Given the description of an element on the screen output the (x, y) to click on. 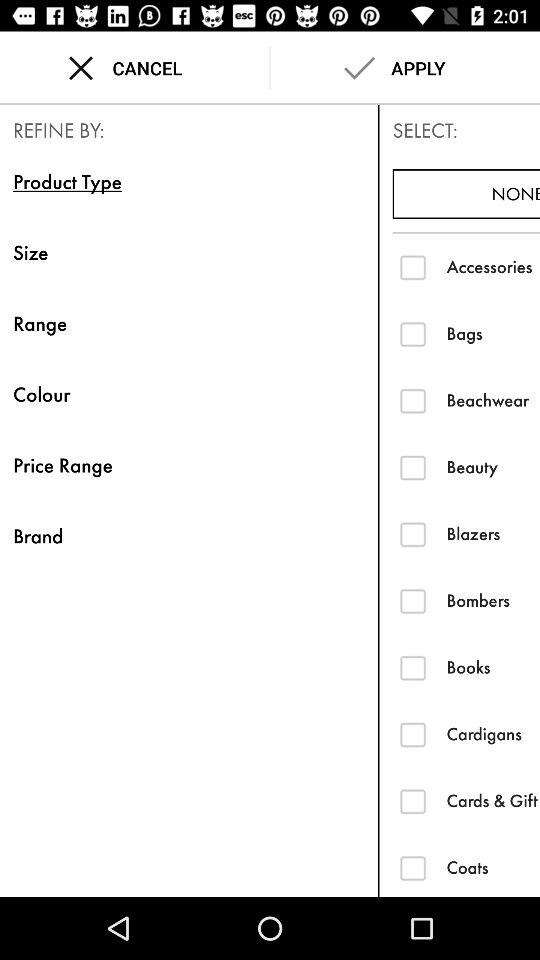
beauty option (412, 467)
